Given the description of an element on the screen output the (x, y) to click on. 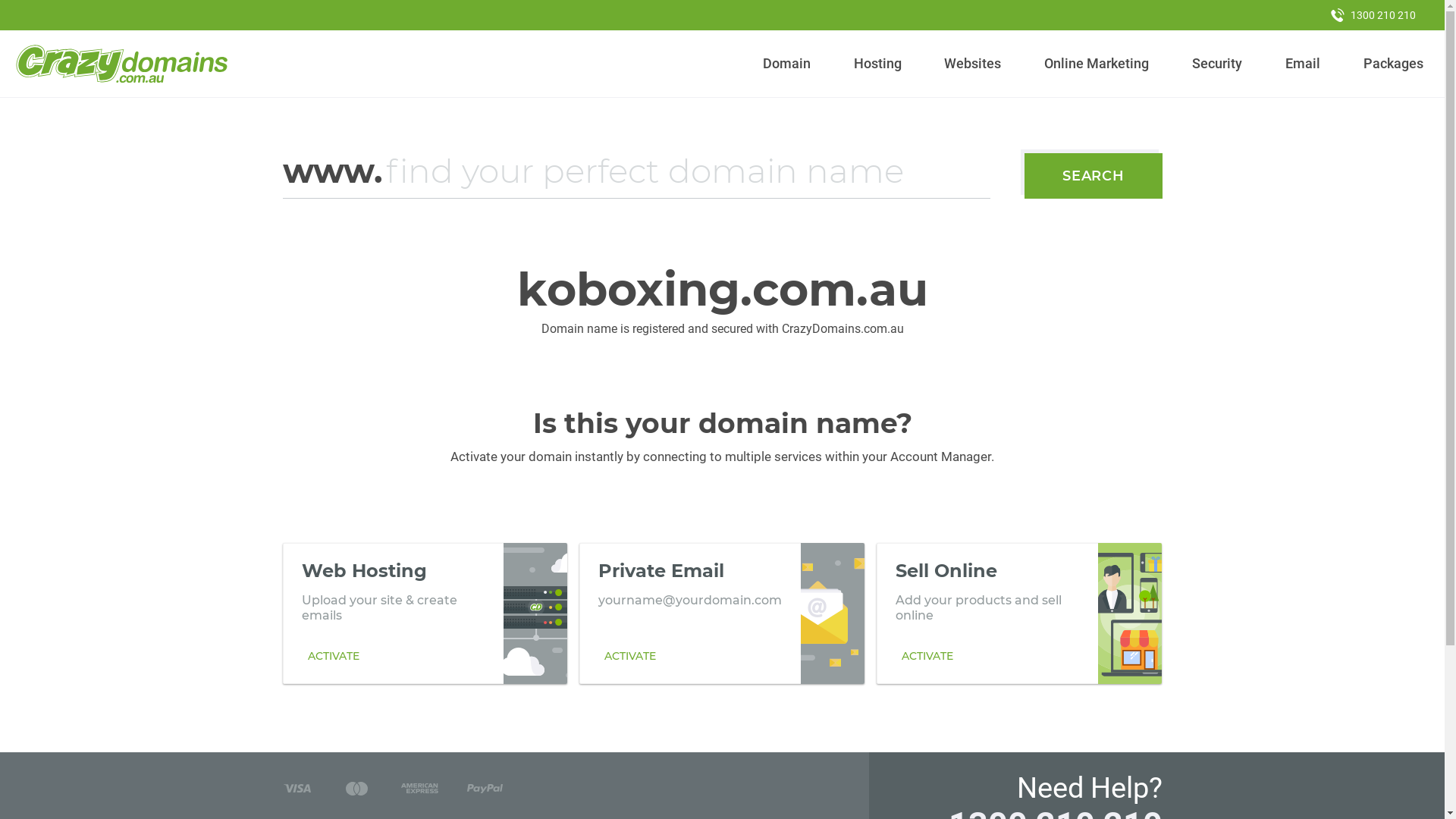
Hosting Element type: text (877, 63)
SEARCH Element type: text (1092, 175)
Email Element type: text (1302, 63)
Online Marketing Element type: text (1096, 63)
Sell Online
Add your products and sell online
ACTIVATE Element type: text (1018, 613)
1300 210 210 Element type: text (1373, 15)
Web Hosting
Upload your site & create emails
ACTIVATE Element type: text (424, 613)
Domain Element type: text (786, 63)
Security Element type: text (1217, 63)
Packages Element type: text (1392, 63)
Websites Element type: text (972, 63)
Private Email
yourname@yourdomain.com
ACTIVATE Element type: text (721, 613)
